Given the description of an element on the screen output the (x, y) to click on. 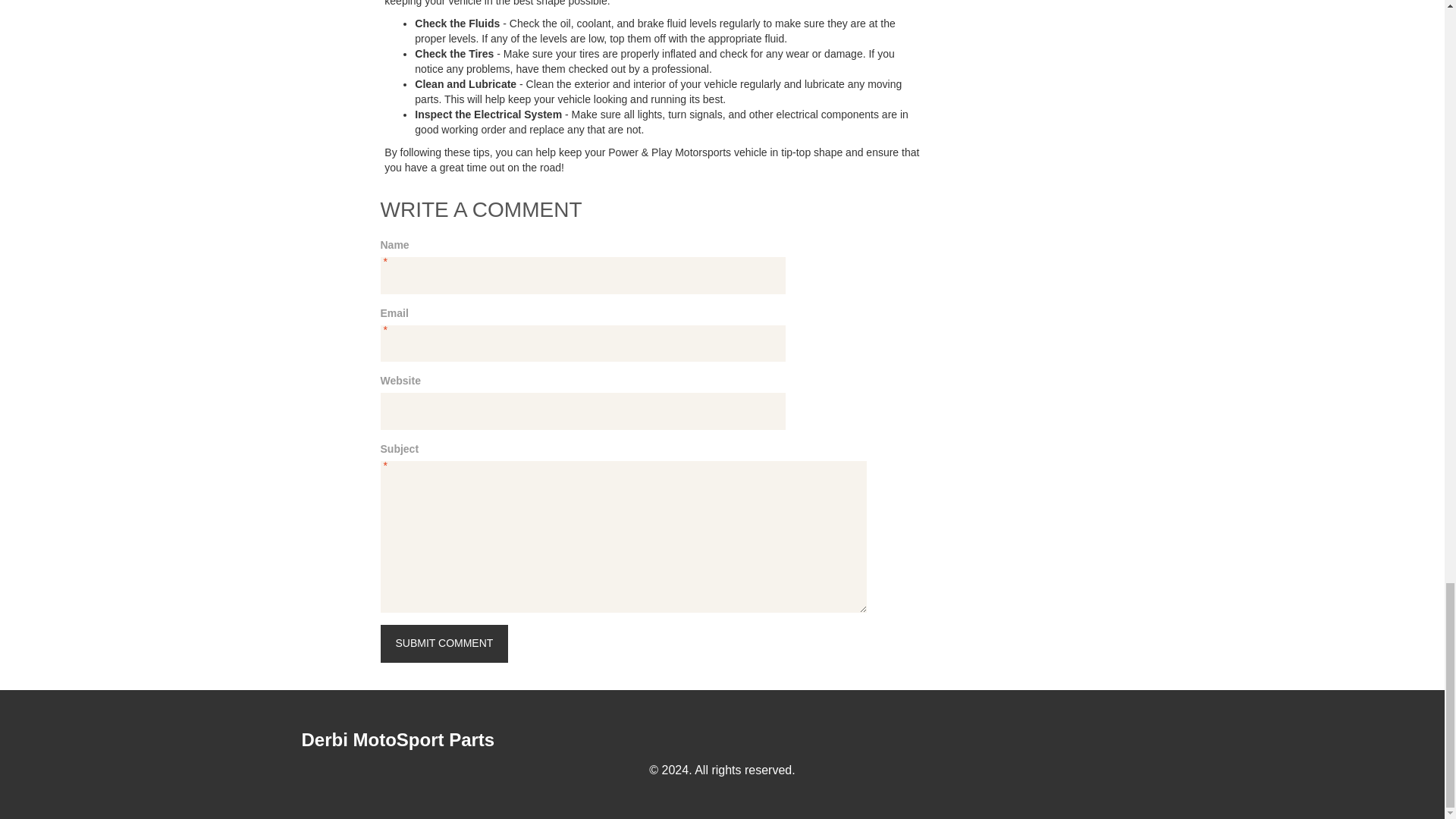
Submit Comment (444, 643)
Submit Comment (444, 643)
Derbi MotoSport Parts (398, 739)
